Given the description of an element on the screen output the (x, y) to click on. 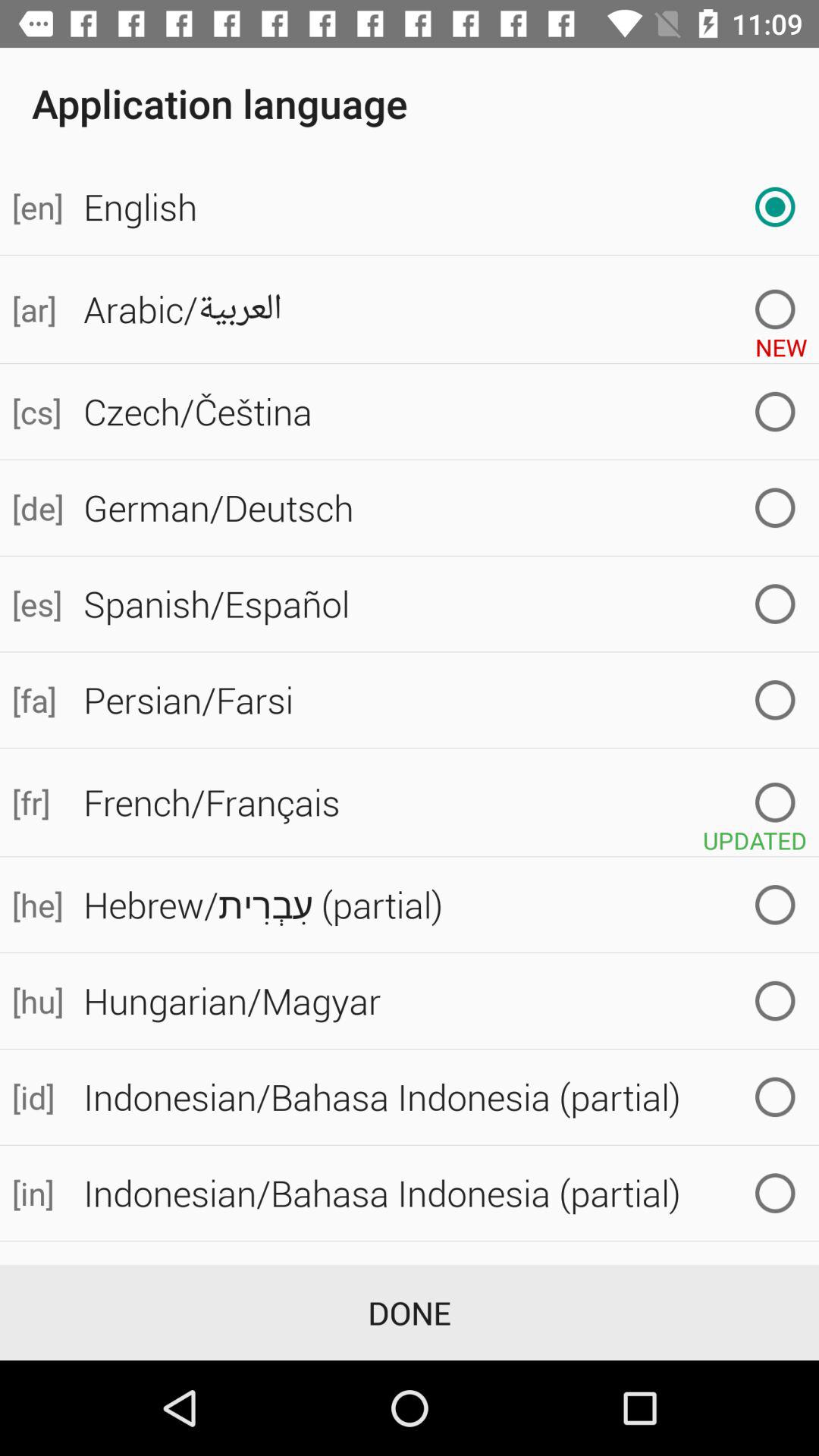
swipe until [fr] item (35, 802)
